Given the description of an element on the screen output the (x, y) to click on. 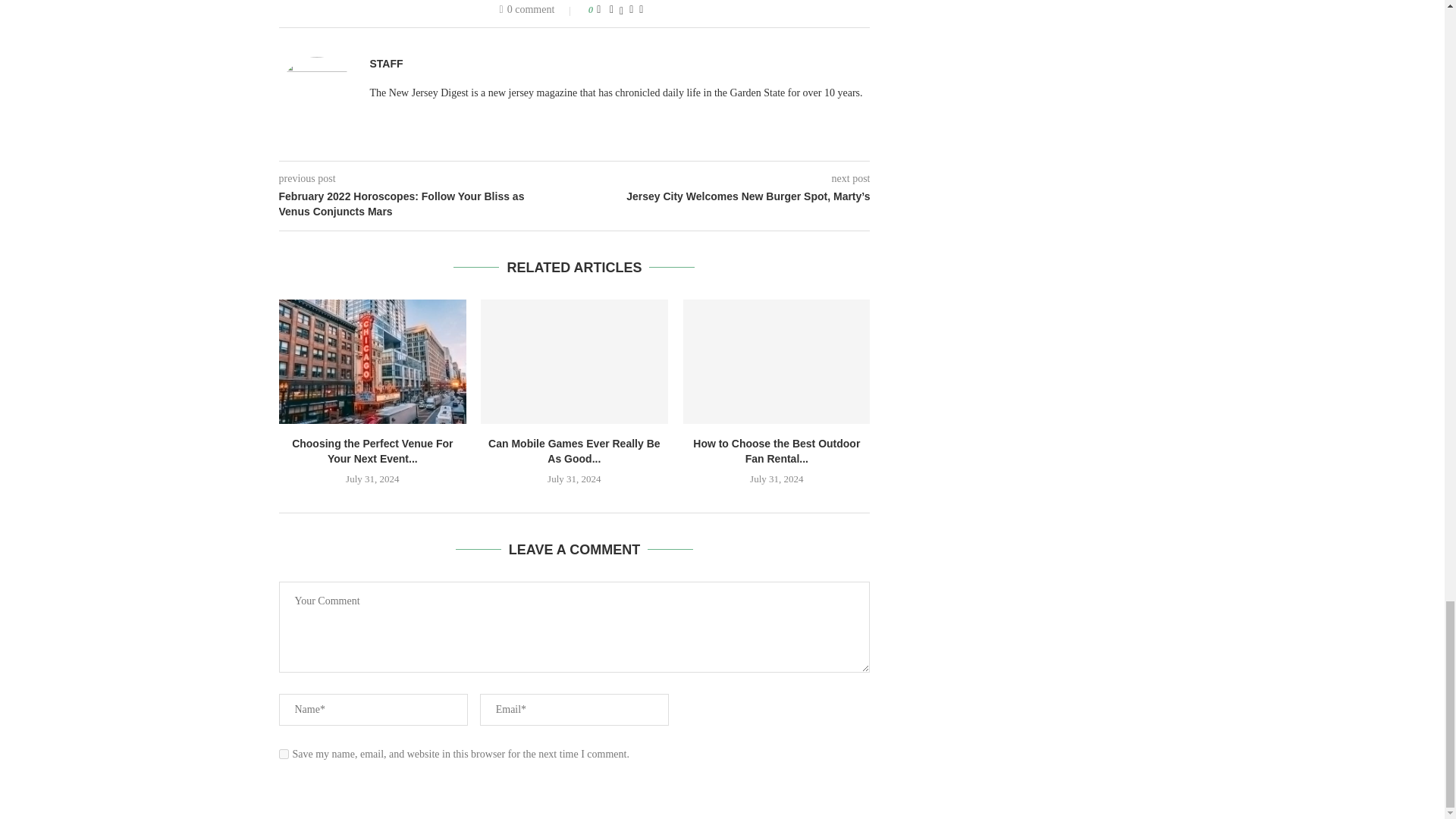
yes (283, 754)
Can Mobile Games Ever Really Be As Good As Video Games? (574, 361)
Choosing the Perfect Venue For Your Next Event in Chicago (372, 361)
Author Staff (386, 63)
How to Choose the Best Outdoor Fan Rental for Your Event (776, 361)
